Given the description of an element on the screen output the (x, y) to click on. 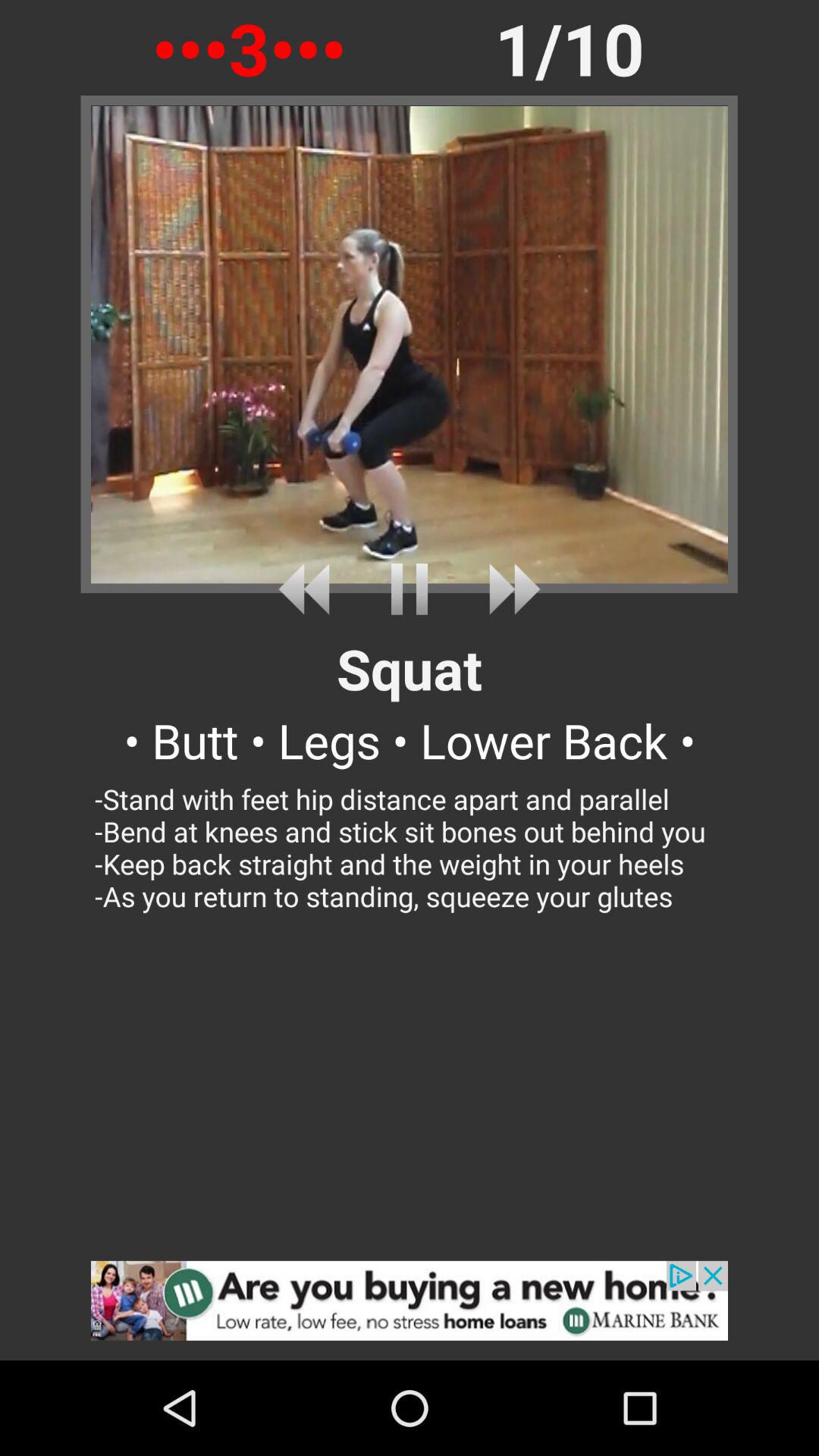
previous video (309, 589)
